Given the description of an element on the screen output the (x, y) to click on. 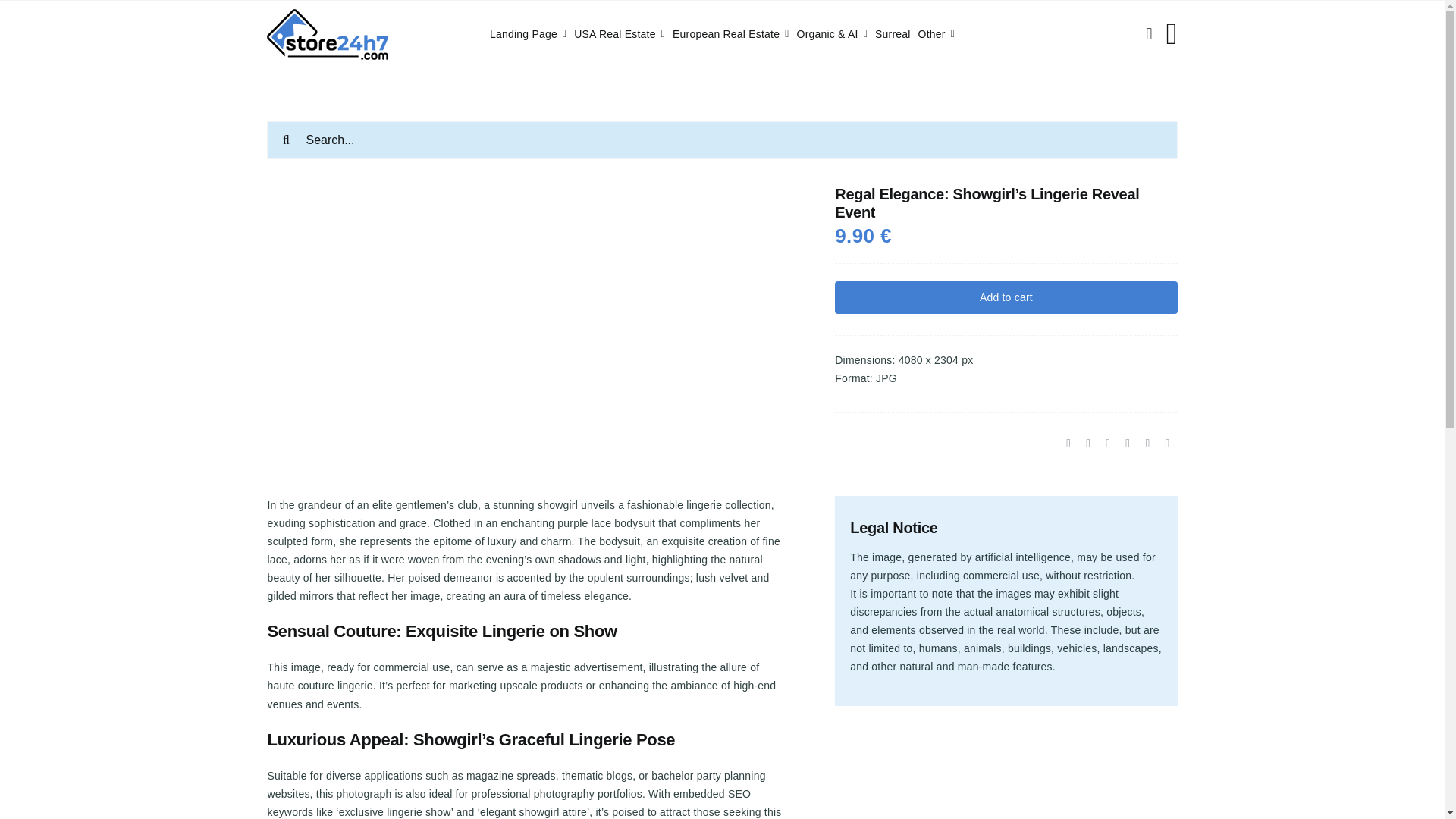
Landing Page (527, 34)
Telegram (1127, 443)
Facebook (1068, 443)
USA Real Estate (619, 34)
Email (1166, 443)
WhatsApp (1107, 443)
X (1087, 443)
Pinterest (1147, 443)
European Real Estate (730, 34)
